Given the description of an element on the screen output the (x, y) to click on. 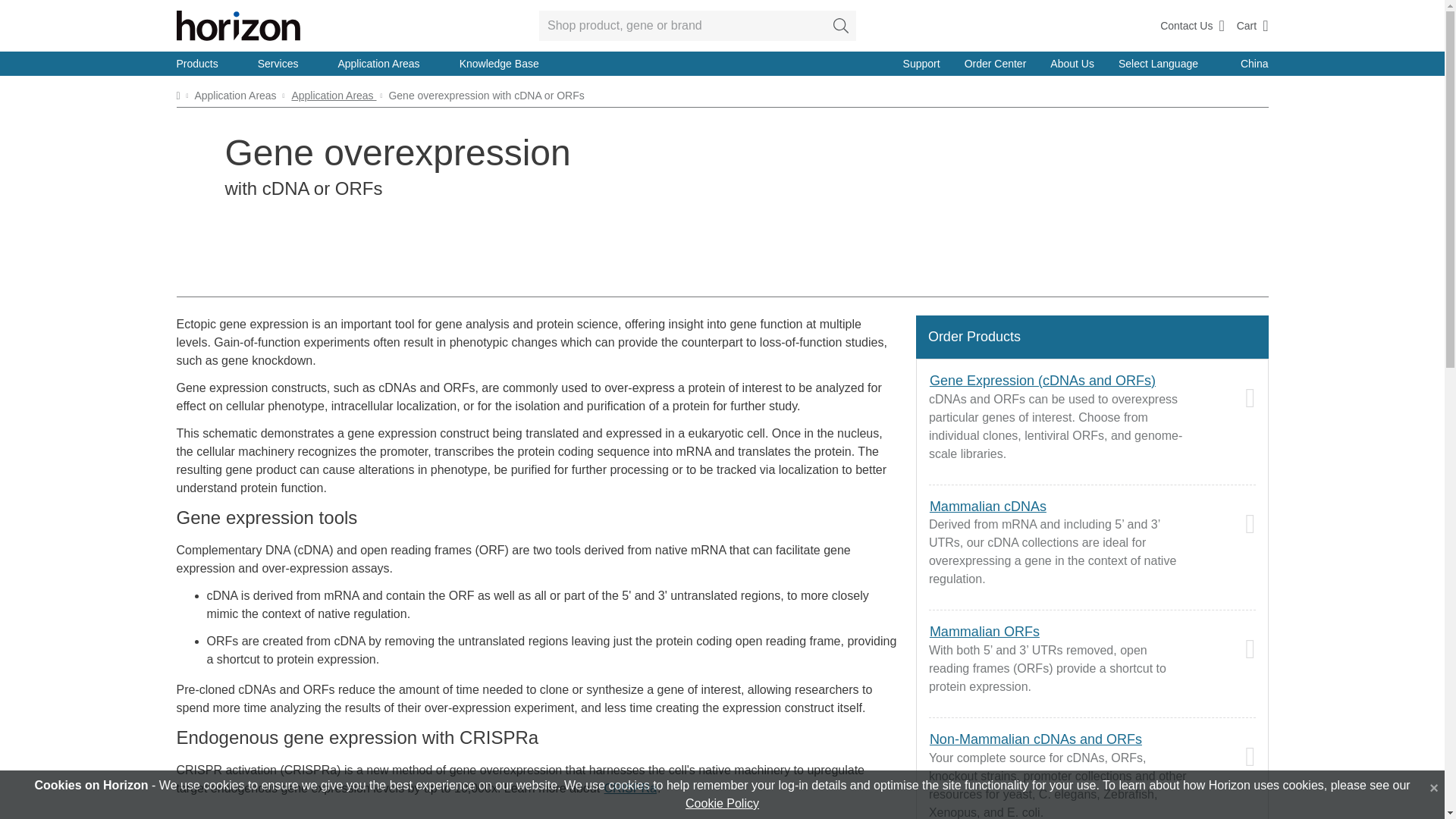
Cart (1252, 25)
Products (206, 63)
Horizon Discovery (237, 25)
Contact Us (1192, 25)
Cookie Policy (721, 802)
